Given the description of an element on the screen output the (x, y) to click on. 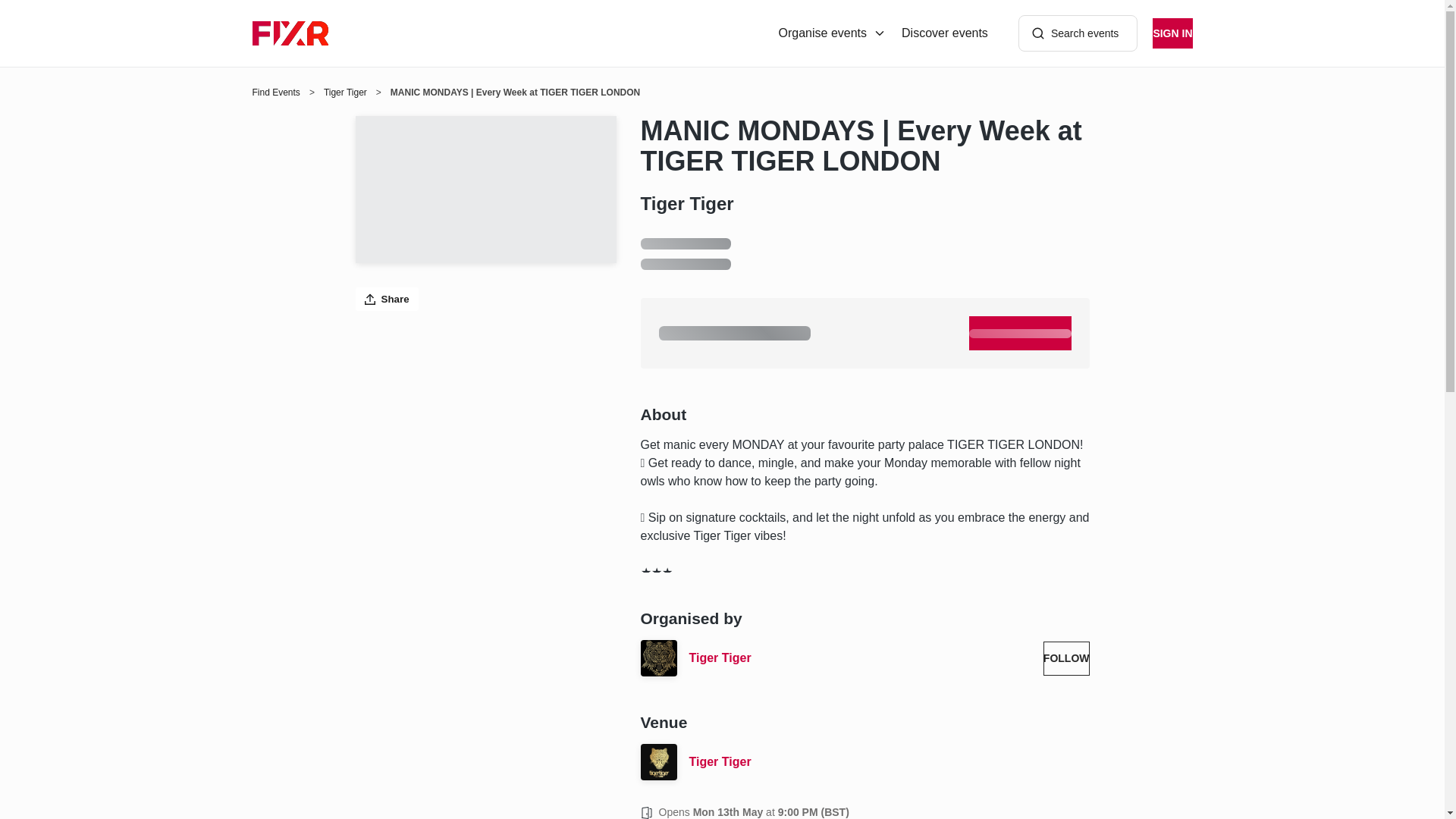
Tiger Tiger (859, 658)
Tiger Tiger (888, 761)
Organise events (832, 33)
SIGN IN (1172, 33)
FOLLOW (1066, 658)
Discover events (944, 33)
PLACEHOLDER TEXT (1020, 333)
Share (386, 298)
Find Events (275, 92)
Search events (1077, 33)
Tiger Tiger (344, 92)
